Given the description of an element on the screen output the (x, y) to click on. 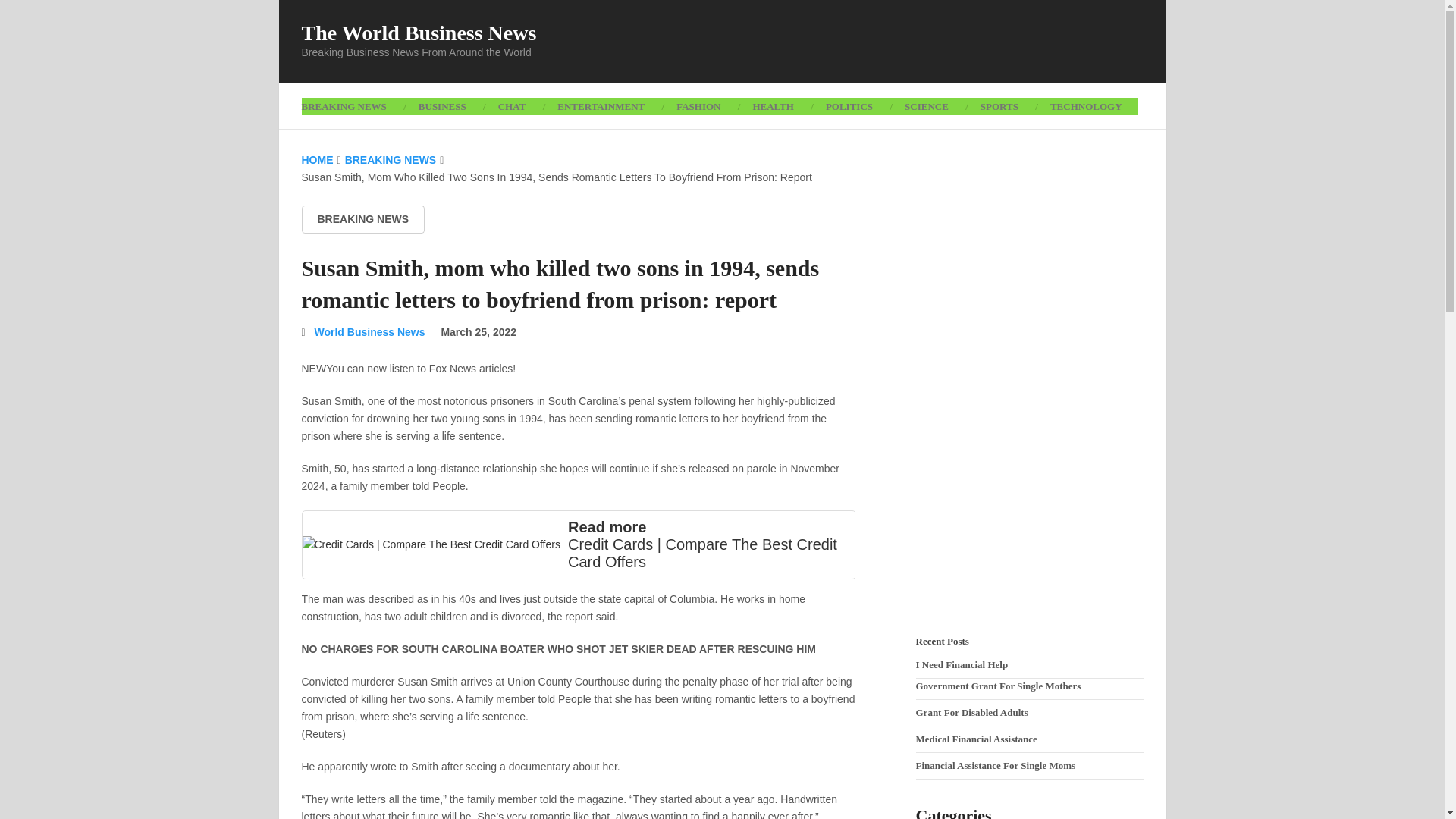
SCIENCE (925, 105)
View all posts in Breaking News (363, 219)
BUSINESS (442, 105)
ENTERTAINMENT (601, 105)
TECHNOLOGY (1085, 105)
Posts by World Business News (369, 331)
BREAKING NEWS (352, 105)
Grant For Disabled Adults (971, 712)
POLITICS (848, 105)
Medical Financial Assistance (975, 738)
